Given the description of an element on the screen output the (x, y) to click on. 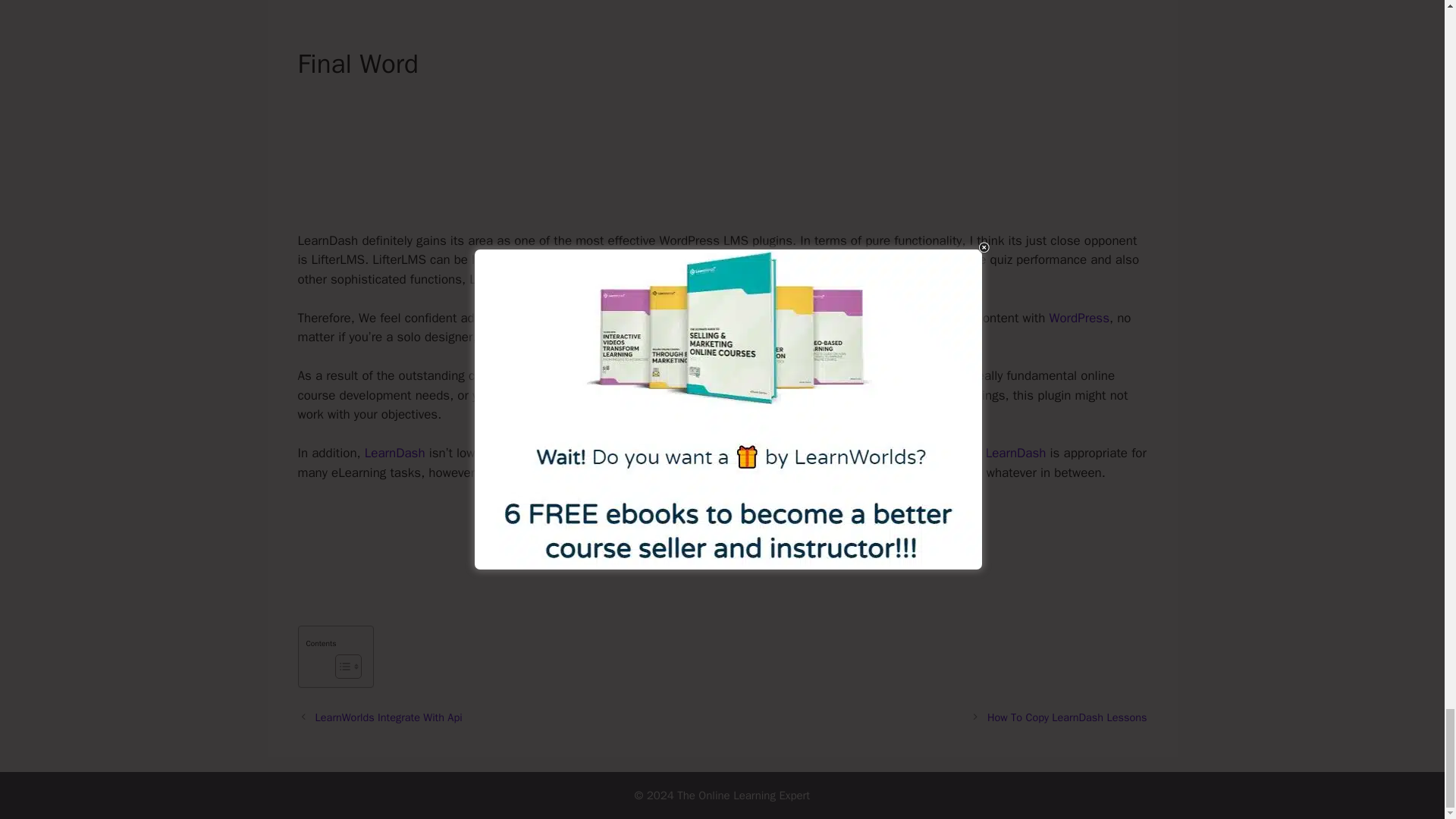
LearnDash (1015, 453)
LearnWorlds Integrate With Api (389, 716)
LearnDash (395, 453)
WordPress (1079, 317)
online course (908, 317)
How To Copy LearnDash Lessons (1067, 716)
a worker training (643, 336)
Begin To Develop Your Course Now (722, 544)
